Given the description of an element on the screen output the (x, y) to click on. 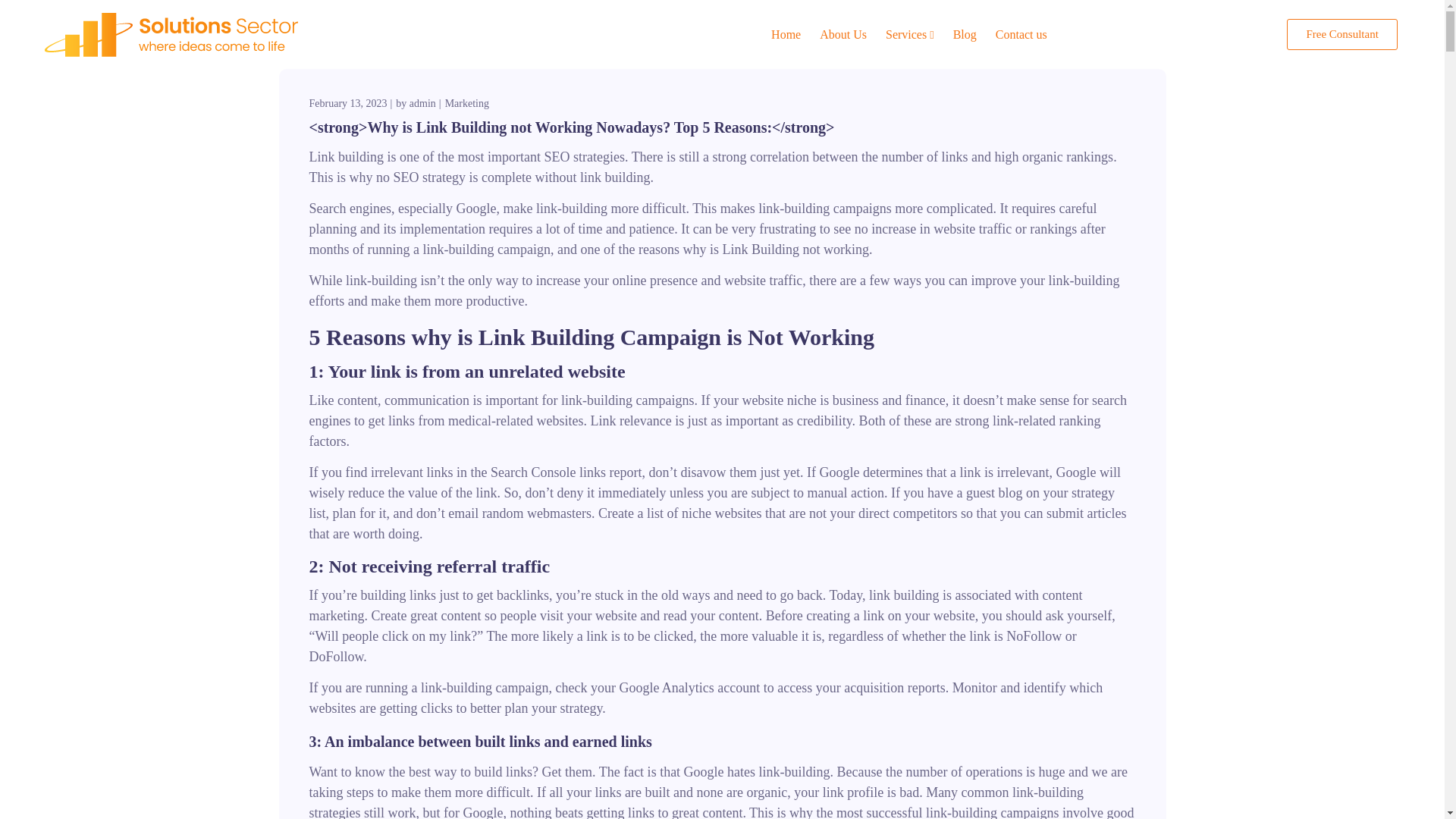
Free Consultant (1341, 33)
ss-logo (171, 34)
Marketing (467, 103)
admin (422, 103)
